Given the description of an element on the screen output the (x, y) to click on. 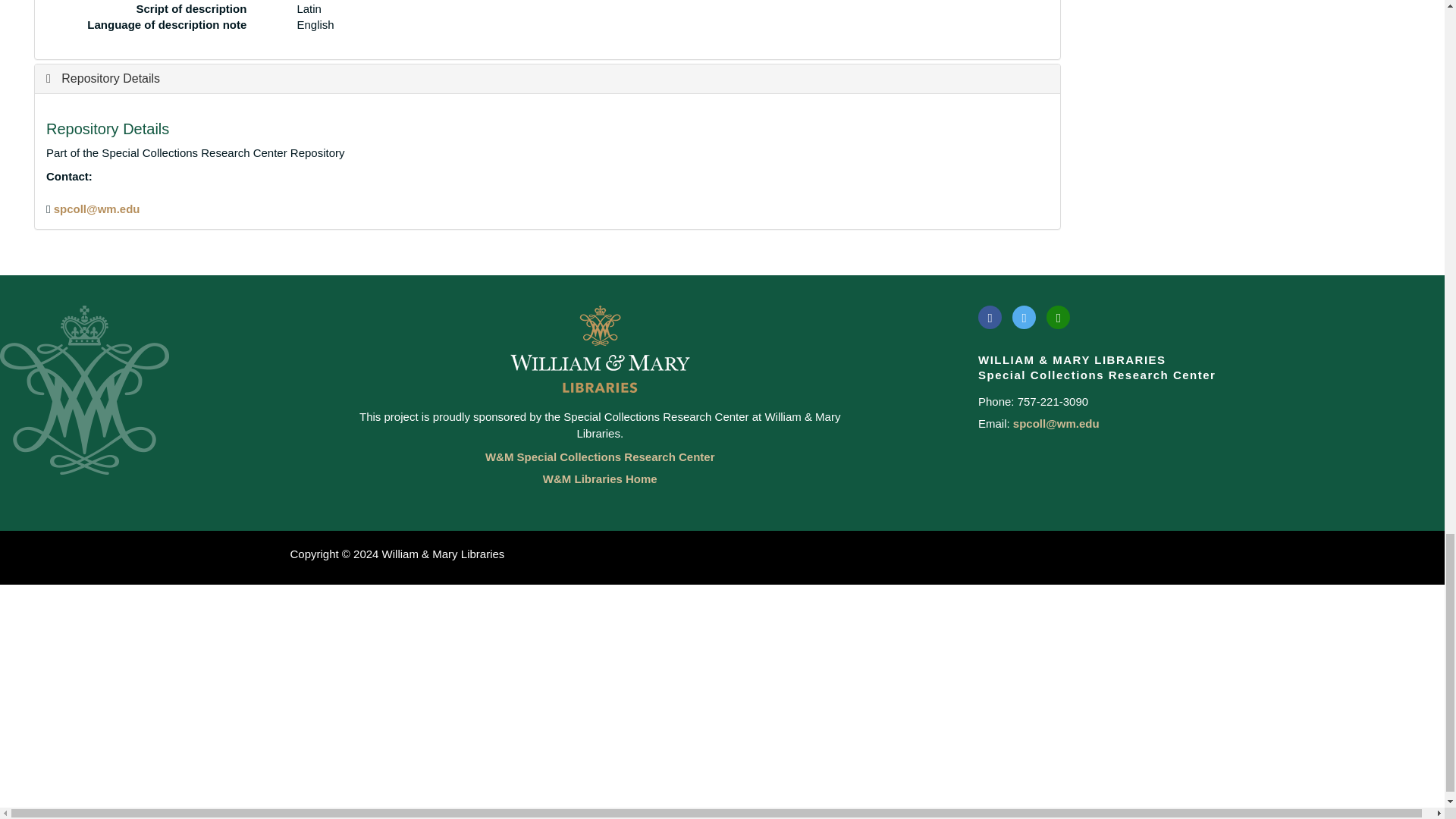
Special Collections Facebook (989, 317)
Repository Details (103, 78)
Send email (96, 208)
Special Collections Twitter (1023, 317)
Special Collections Blog (1058, 317)
